Given the description of an element on the screen output the (x, y) to click on. 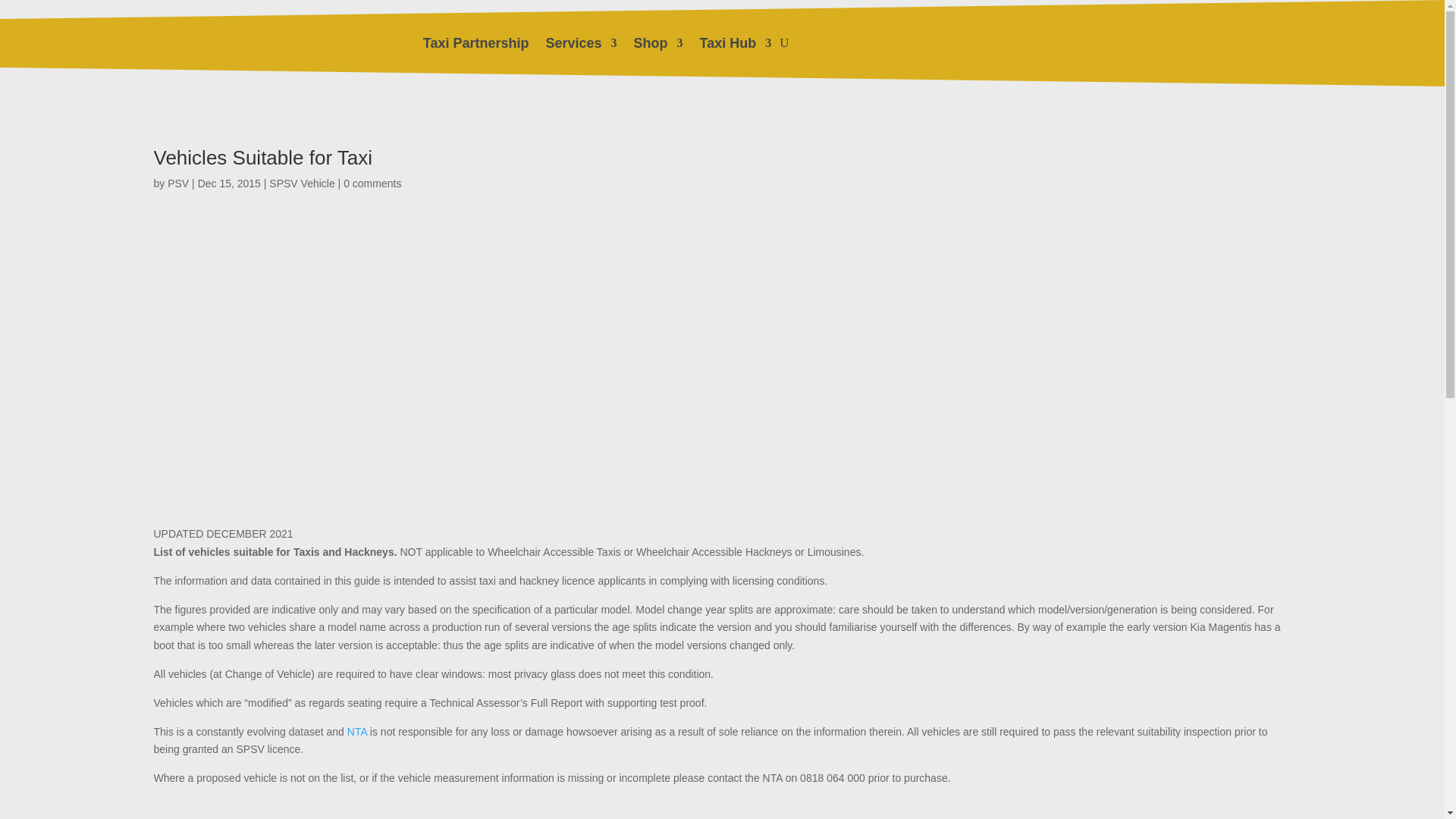
PSV (178, 183)
Taxi Hub (735, 43)
Services (581, 43)
Taxi Partnership (476, 43)
Posts by PSV (178, 183)
